Given the description of an element on the screen output the (x, y) to click on. 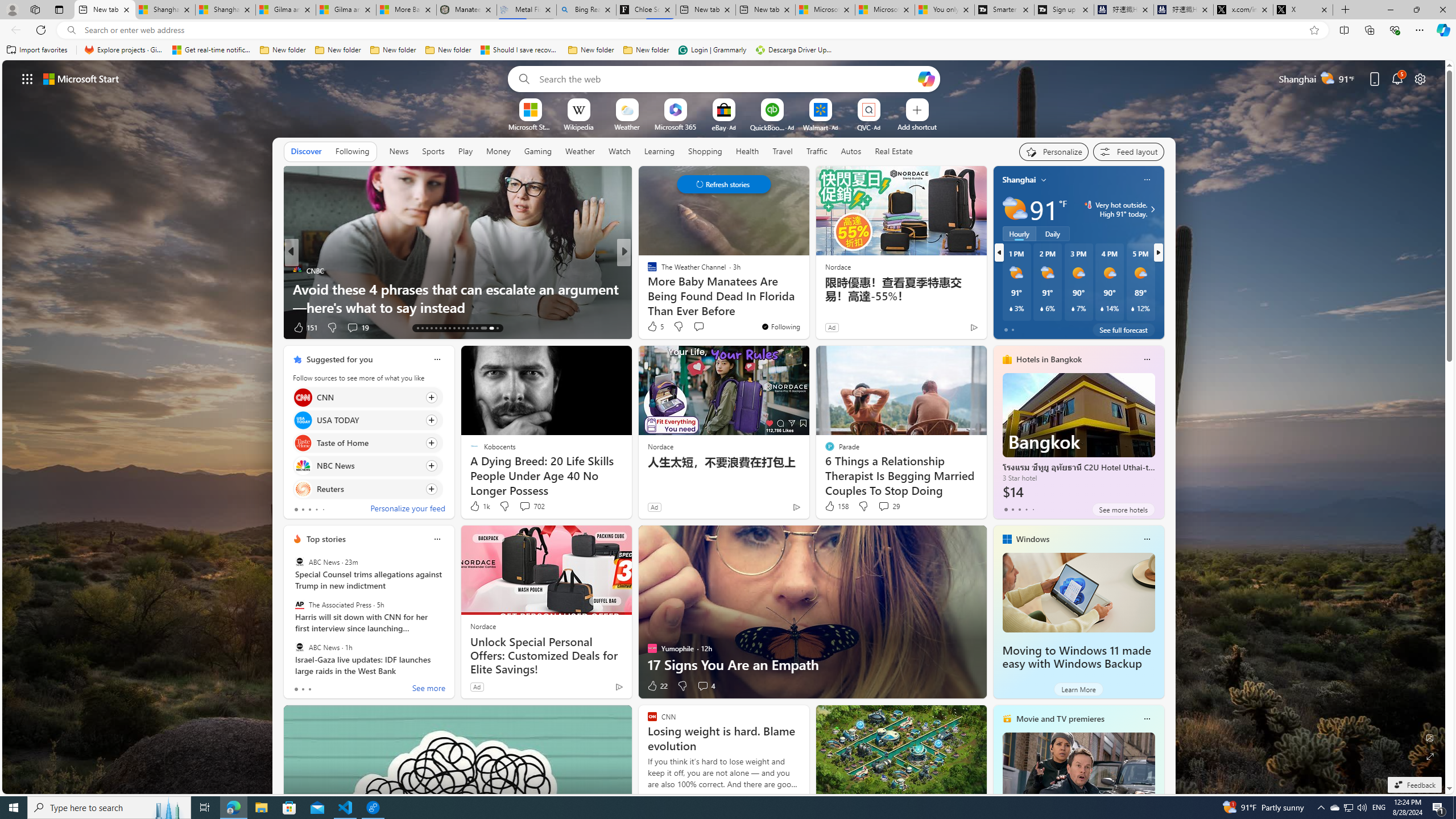
Moving to Windows 11 made easy with Windows Backup (1076, 657)
AutomationID: tab-22 (458, 328)
Money (498, 151)
Class: weather-arrow-glyph (1152, 208)
Real Estate (893, 151)
Class: weather-current-precipitation-glyph (1133, 308)
151 Like (304, 327)
17 Like (652, 327)
View comments 4 Comment (705, 685)
Top stories (325, 538)
Gaming (537, 151)
